Given the description of an element on the screen output the (x, y) to click on. 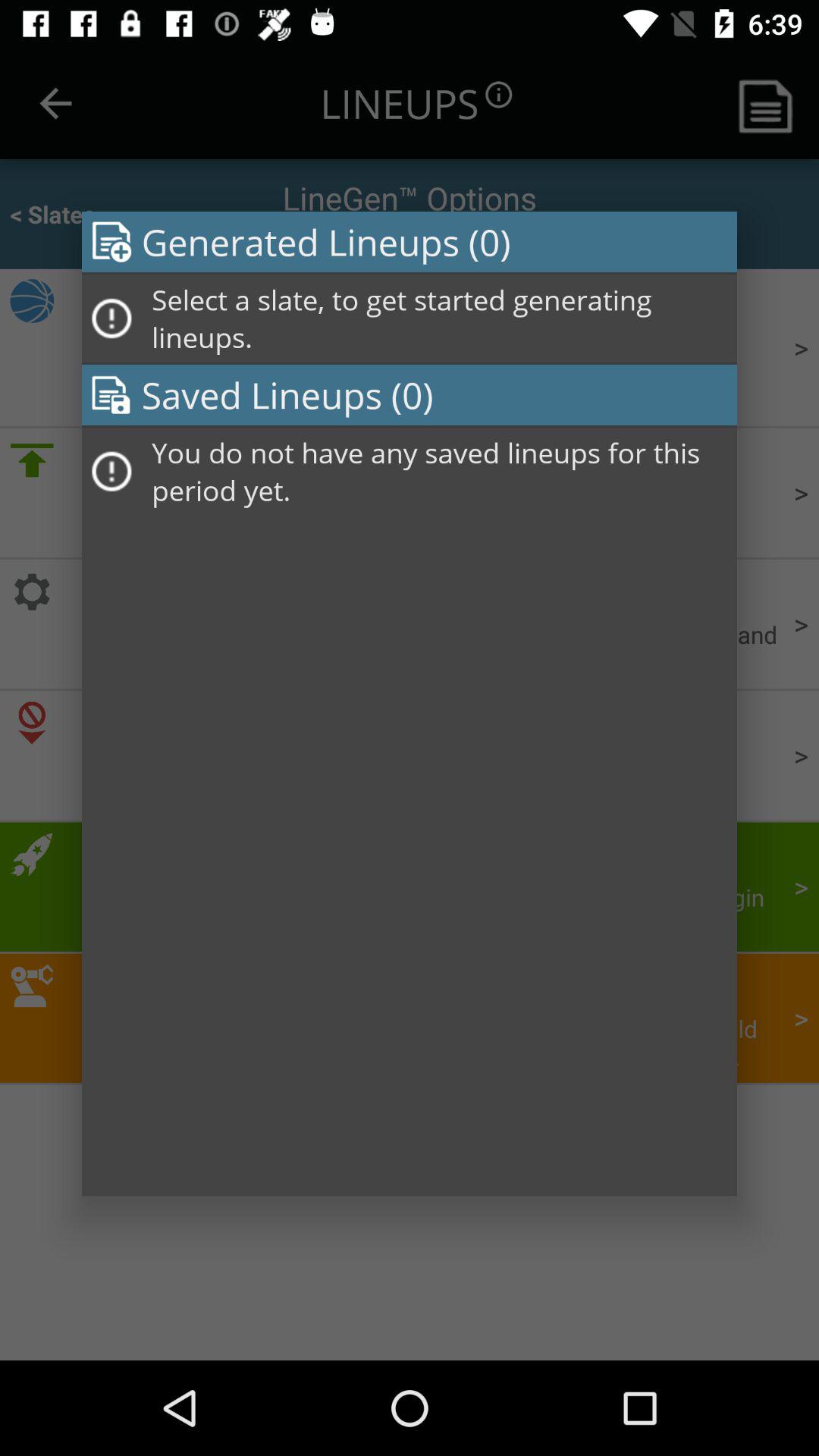
turn on the item below the saved lineups (0) (438, 471)
